Given the description of an element on the screen output the (x, y) to click on. 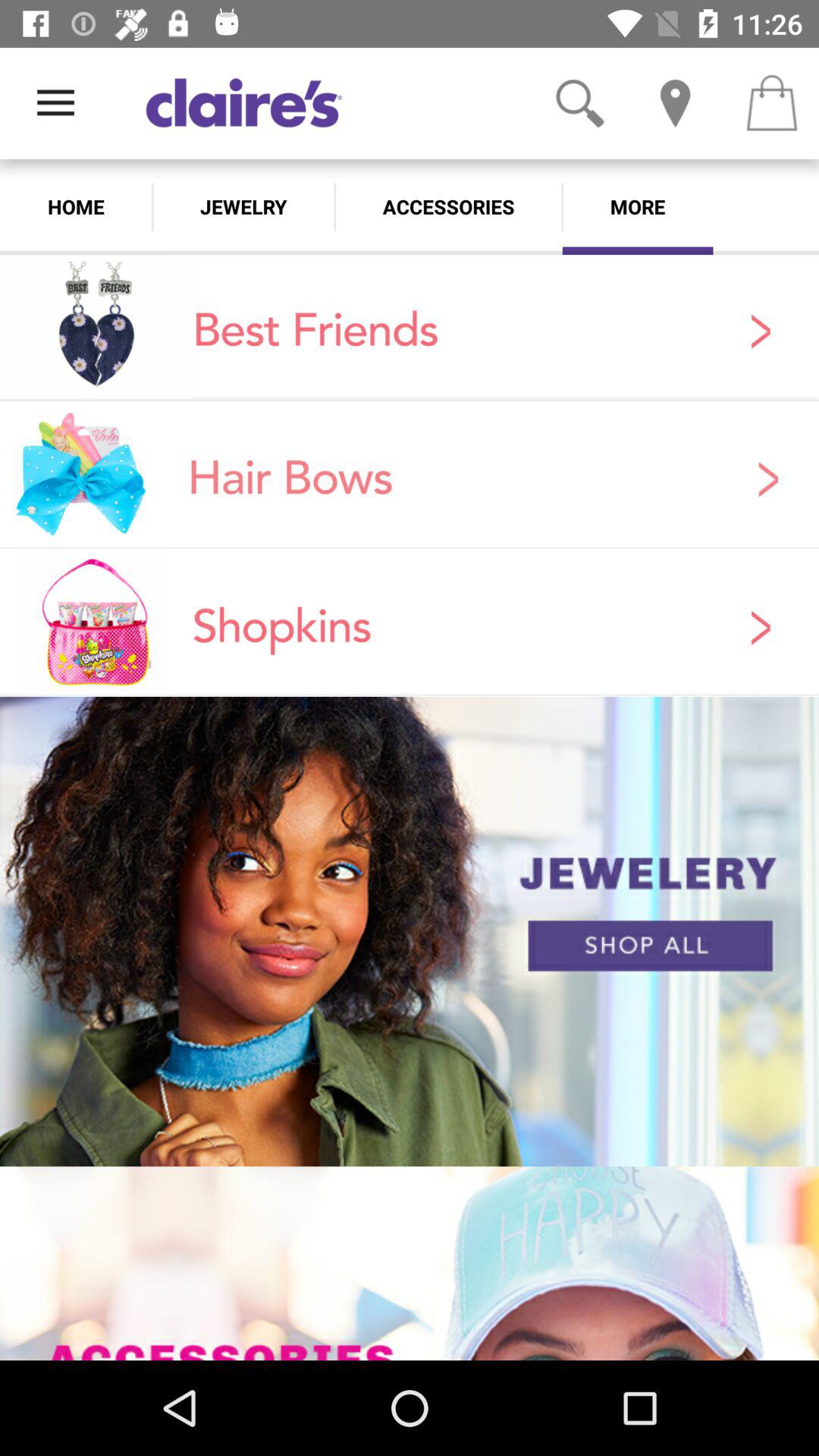
open jewelry icon (243, 206)
